Given the description of an element on the screen output the (x, y) to click on. 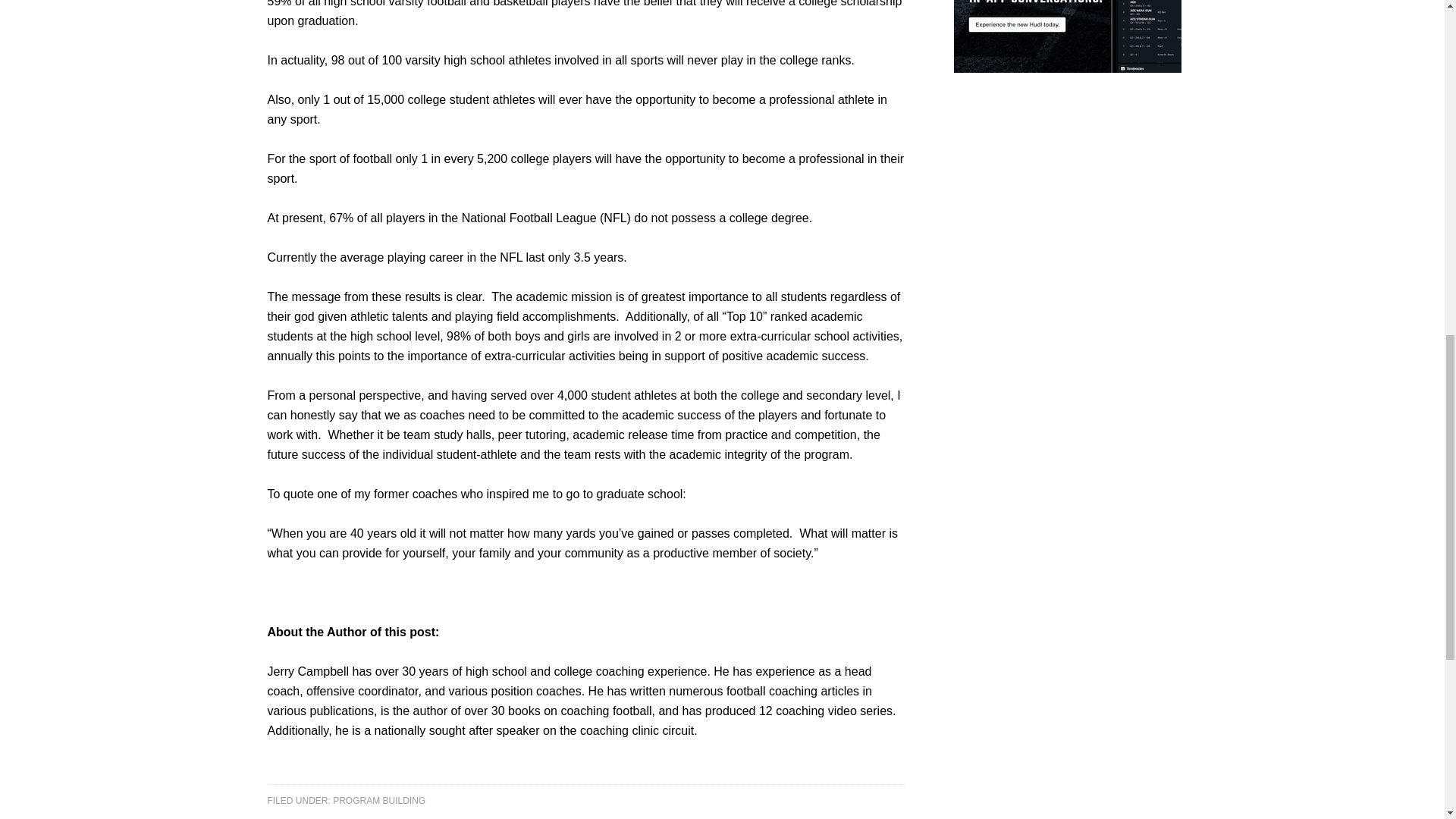
PROGRAM BUILDING (379, 799)
3rd party ad content (1066, 212)
3rd party ad content (1066, 36)
